Given the description of an element on the screen output the (x, y) to click on. 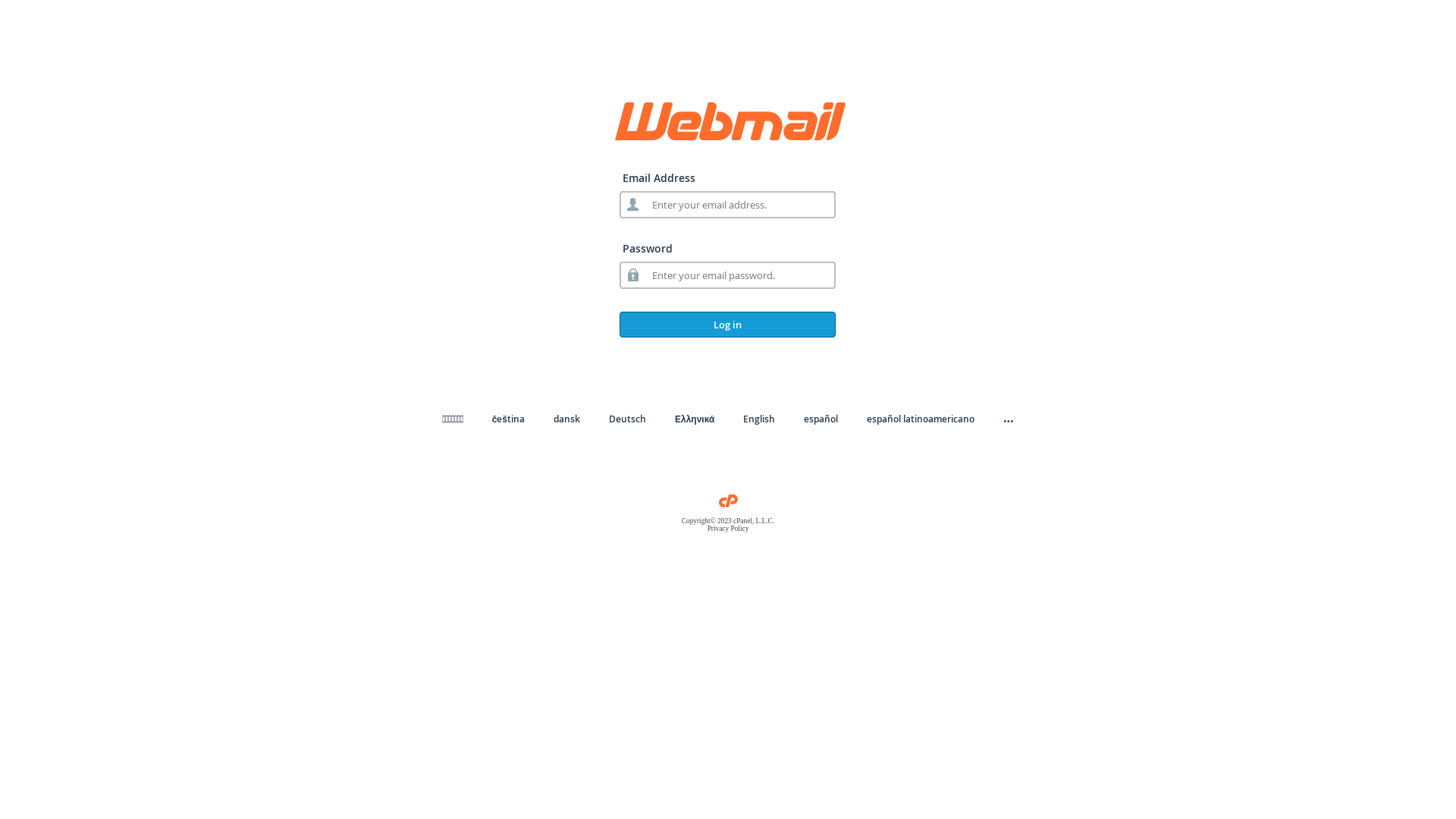
Log in Element type: text (727, 324)
dansk Element type: text (566, 418)
Privacy Policy Element type: text (728, 528)
English Element type: text (759, 418)
Deutsch Element type: text (627, 418)
